Given the description of an element on the screen output the (x, y) to click on. 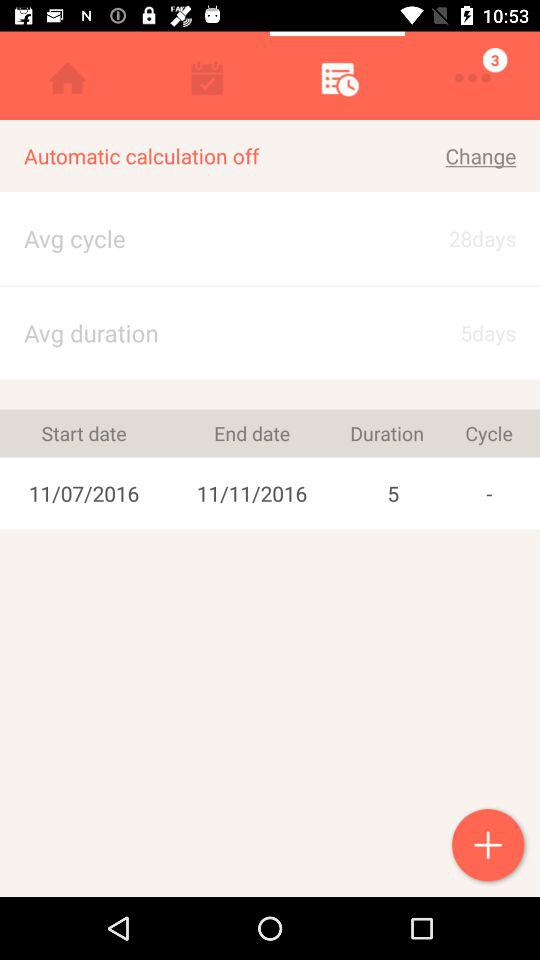
flip to the 5 (393, 493)
